Given the description of an element on the screen output the (x, y) to click on. 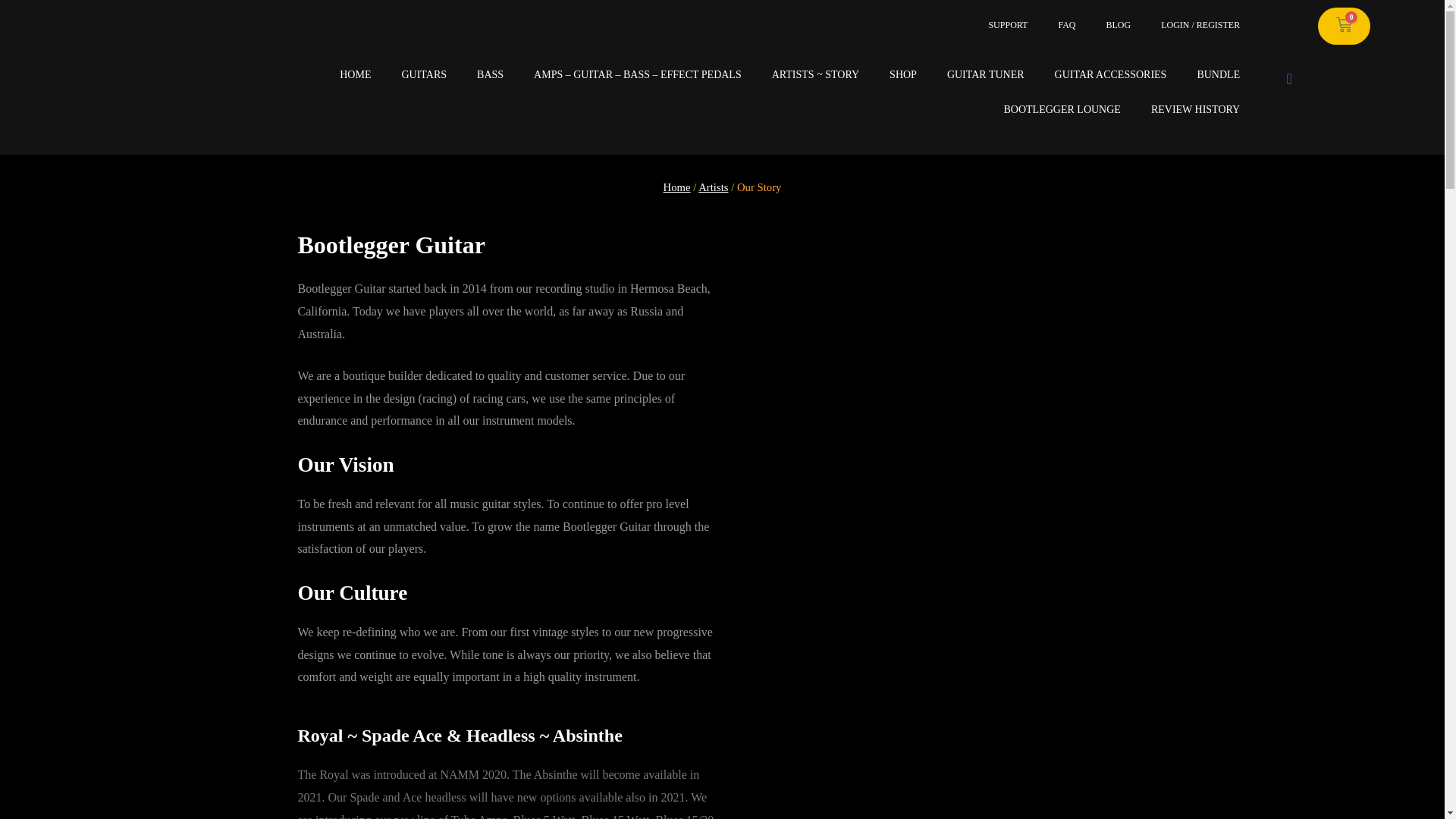
BASS (489, 74)
SHOP (903, 74)
BLOG (1118, 24)
SUPPORT (1007, 24)
FAQ (1066, 24)
GUITAR ACCESSORIES (1110, 74)
GUITARS (423, 74)
HOME (354, 74)
GUITAR TUNER (985, 74)
